Given the description of an element on the screen output the (x, y) to click on. 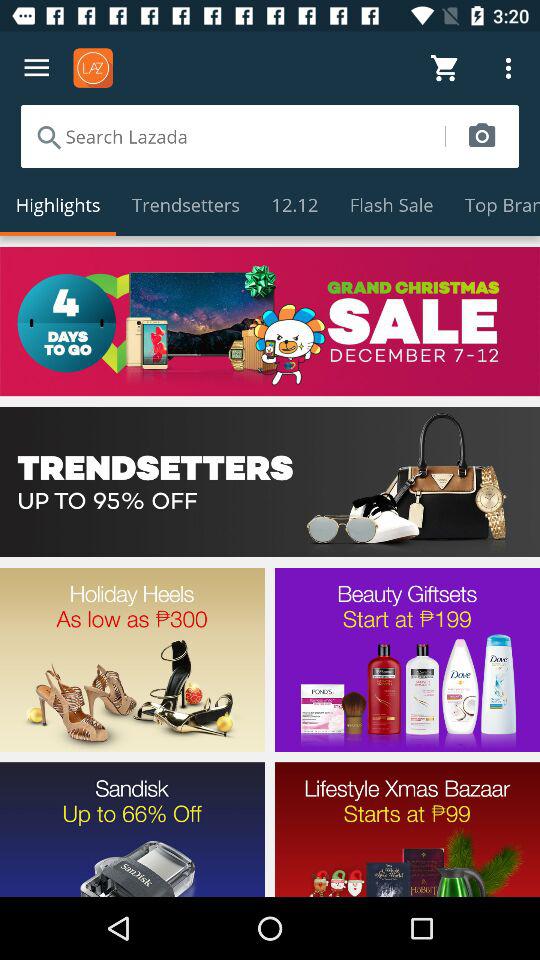
open the deals (270, 481)
